Given the description of an element on the screen output the (x, y) to click on. 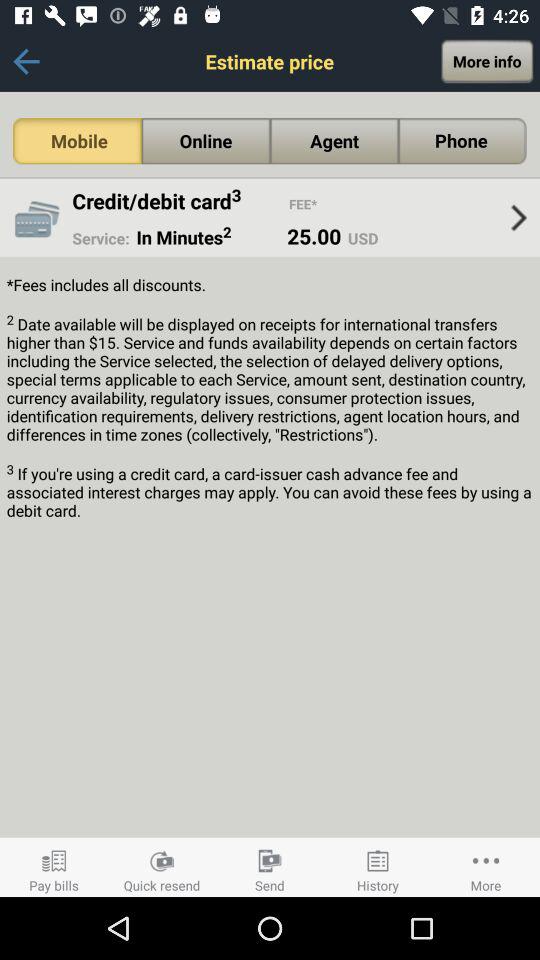
tap icon above the mobile item (26, 61)
